Given the description of an element on the screen output the (x, y) to click on. 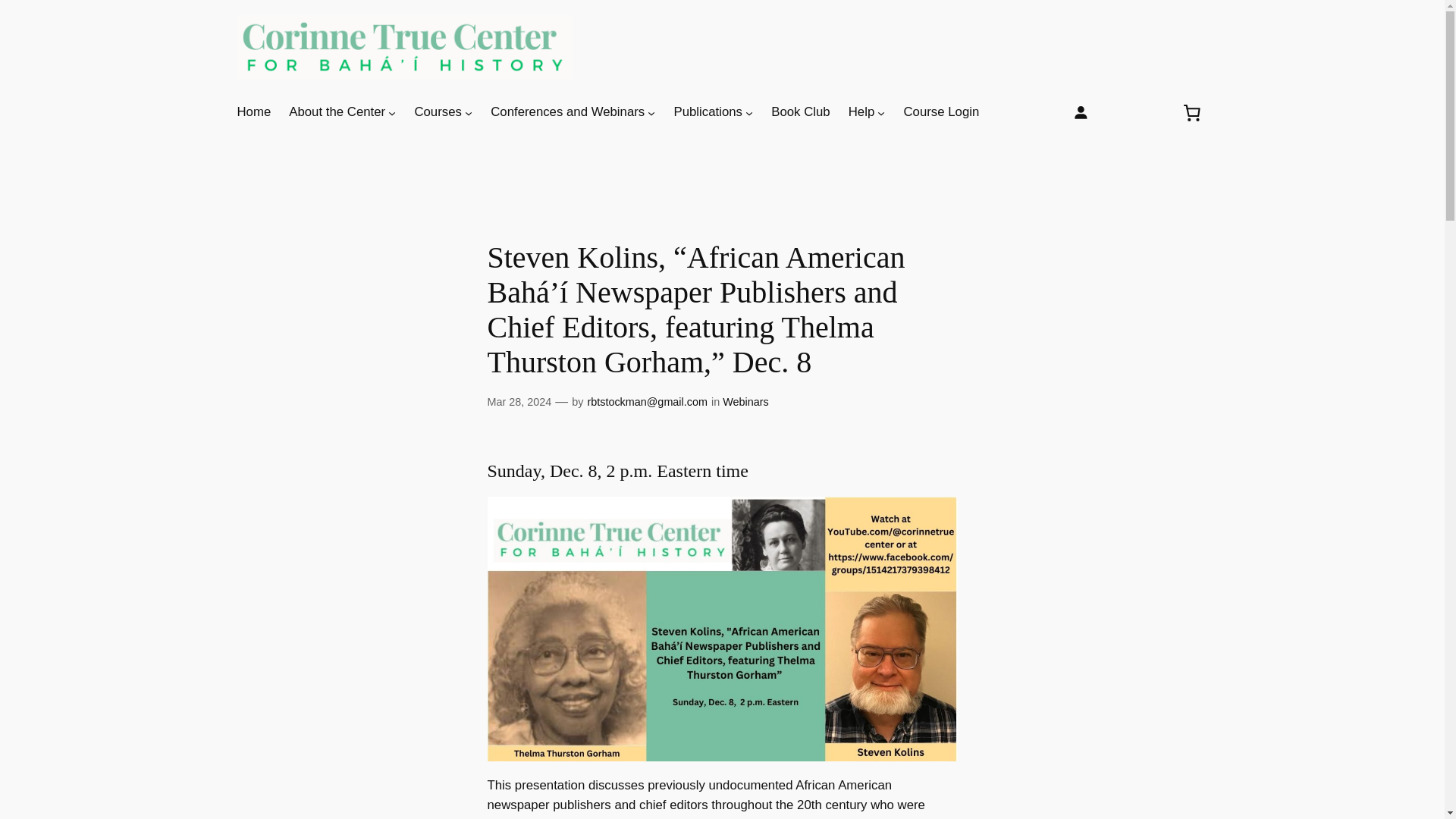
Courses (437, 112)
About the Center (336, 112)
Conferences and Webinars (567, 112)
Home (252, 112)
Publications (707, 112)
